Given the description of an element on the screen output the (x, y) to click on. 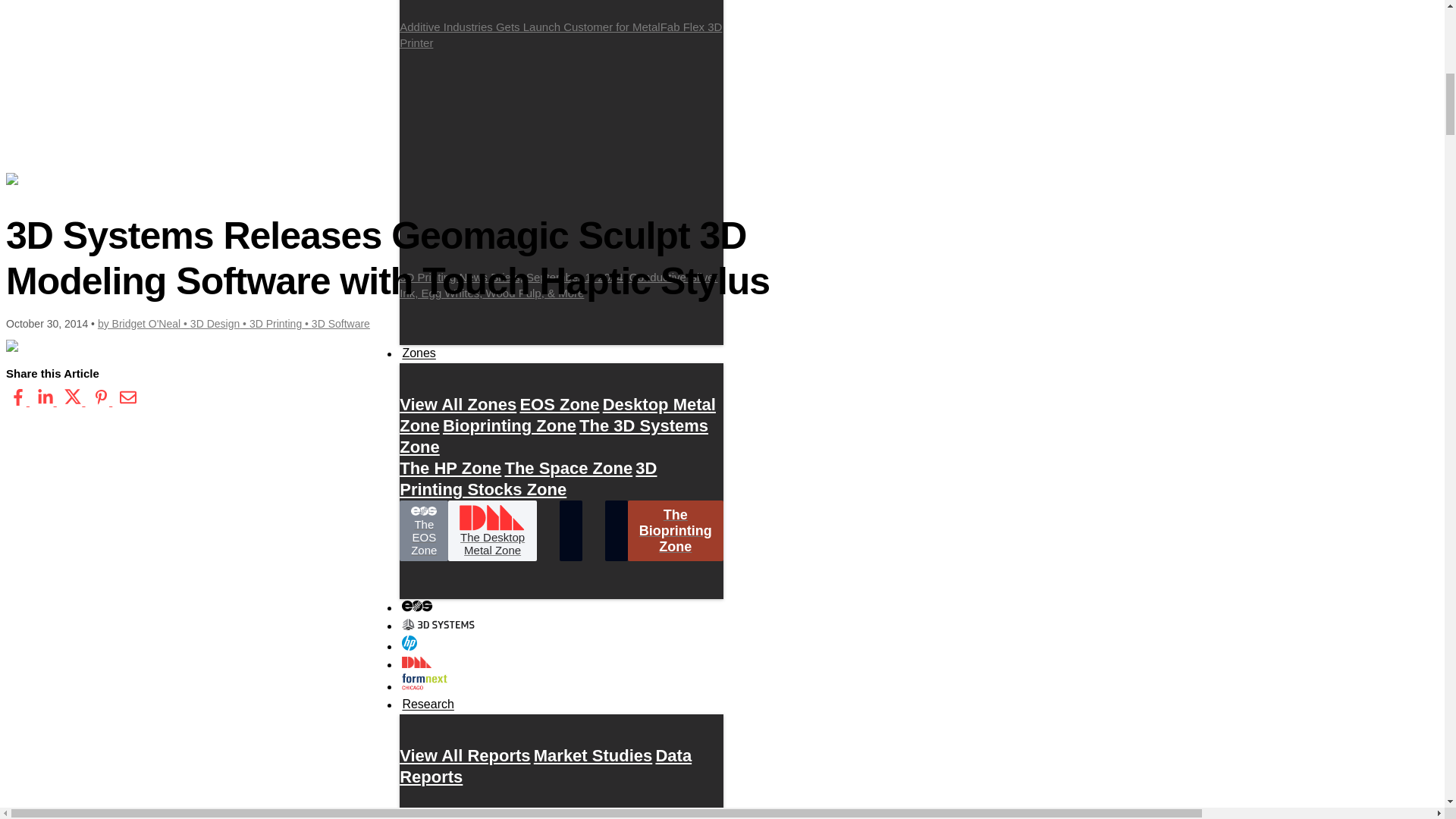
Bioprinting Zone (509, 425)
View All Zones (457, 404)
Zones (418, 353)
The Desktop Metal Zone (491, 530)
The HP Zone (449, 467)
The Space Zone (567, 467)
3D Printing Stocks Zone (527, 478)
Desktop Metal Zone (557, 415)
EOS Zone (558, 404)
